Given the description of an element on the screen output the (x, y) to click on. 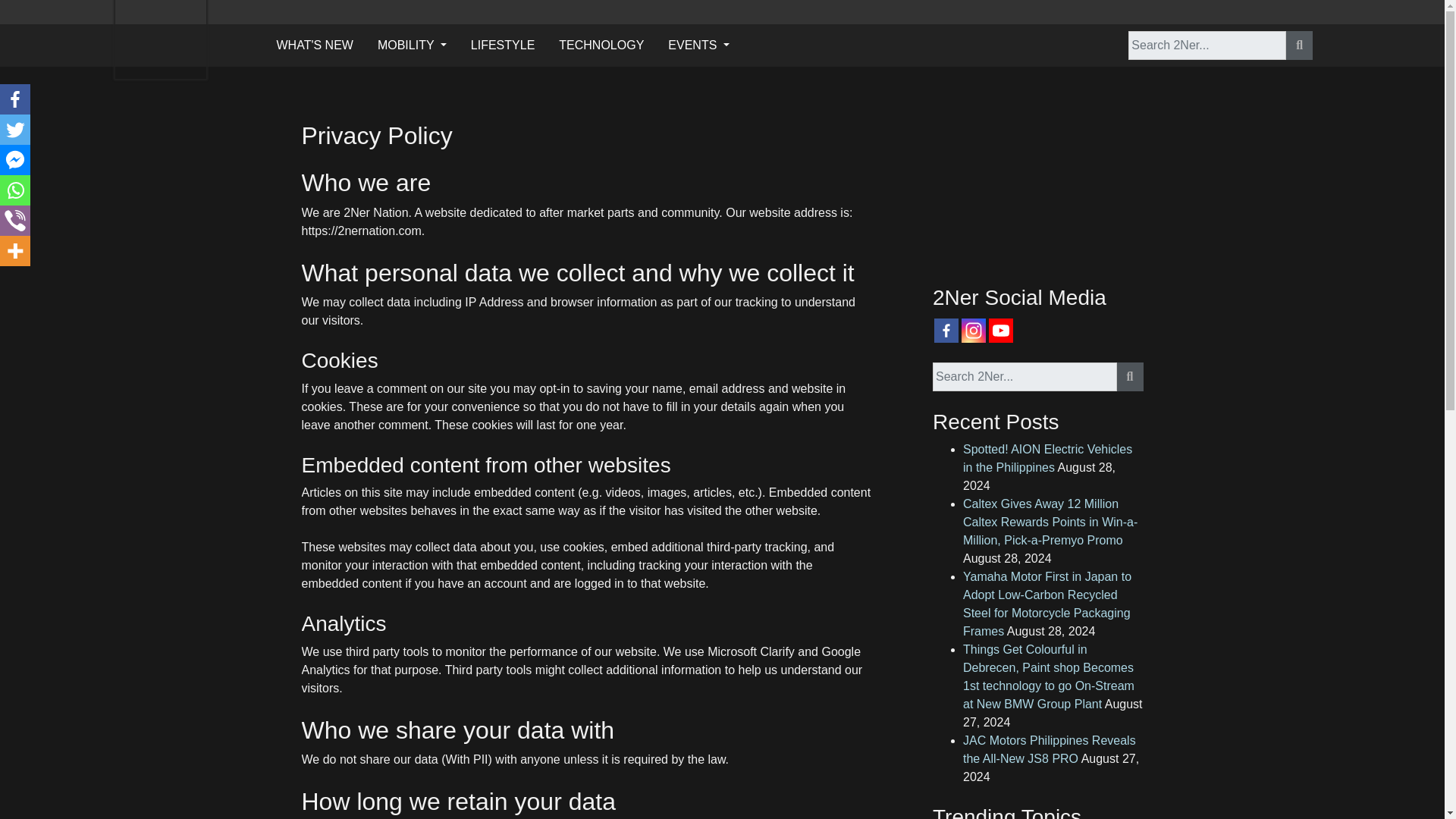
Viber (15, 220)
Twitter (15, 129)
WHAT'S NEW (314, 45)
Instagram (972, 330)
More (15, 250)
Youtube Channel (1000, 330)
Spotted! AION Electric Vehicles in the Philippines (1047, 458)
Whatsapp (15, 190)
Facebook (15, 99)
